Given the description of an element on the screen output the (x, y) to click on. 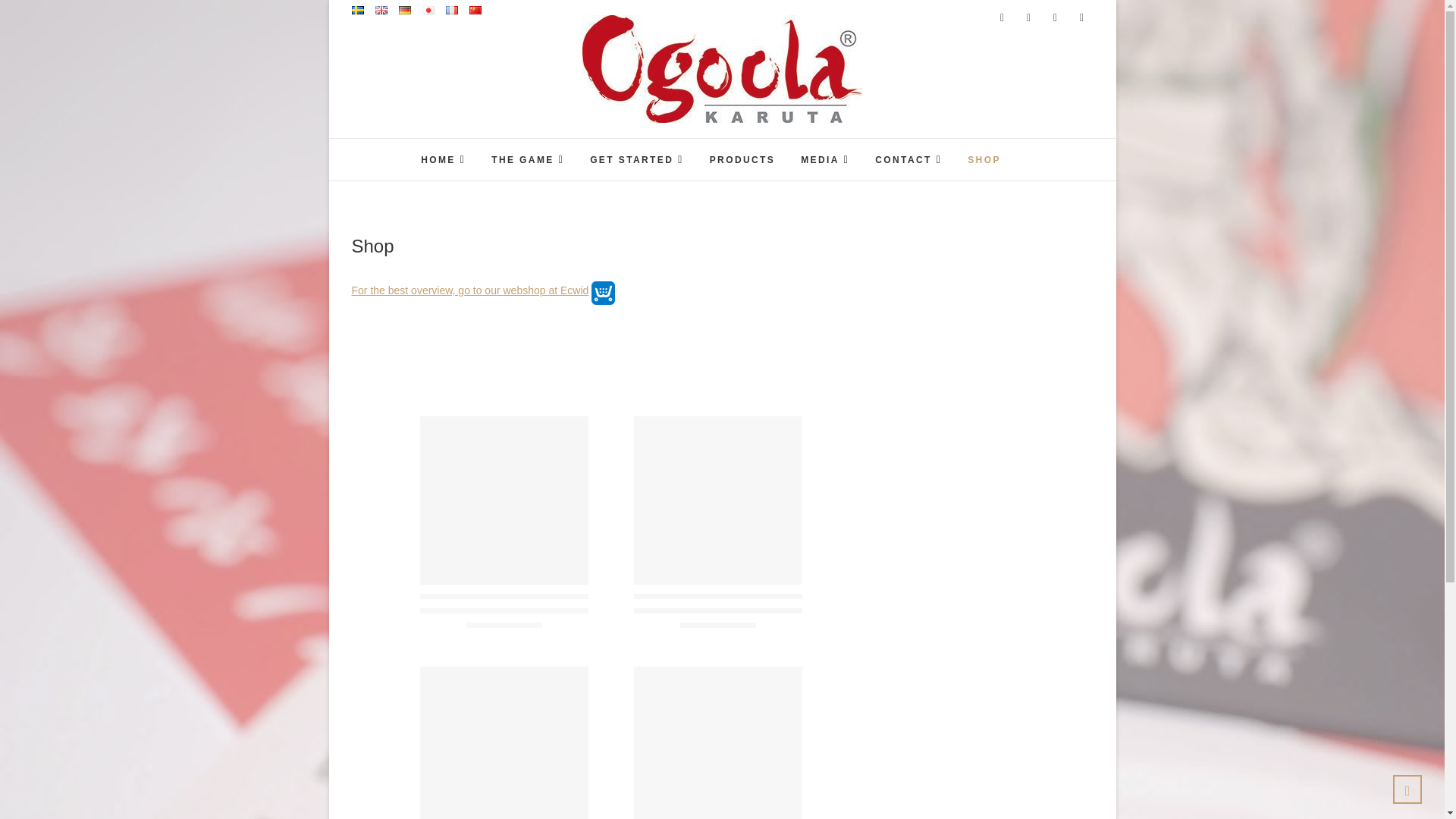
For the best overview, go to our webshop at Ecwid (470, 290)
MEDIA (824, 159)
Ogoola Karuta (671, 140)
CONTACT (908, 159)
THE GAME (527, 159)
SHOP (983, 160)
HOME (443, 159)
Go to Top (1407, 788)
PRODUCTS (742, 160)
GET STARTED (636, 159)
